Given the description of an element on the screen output the (x, y) to click on. 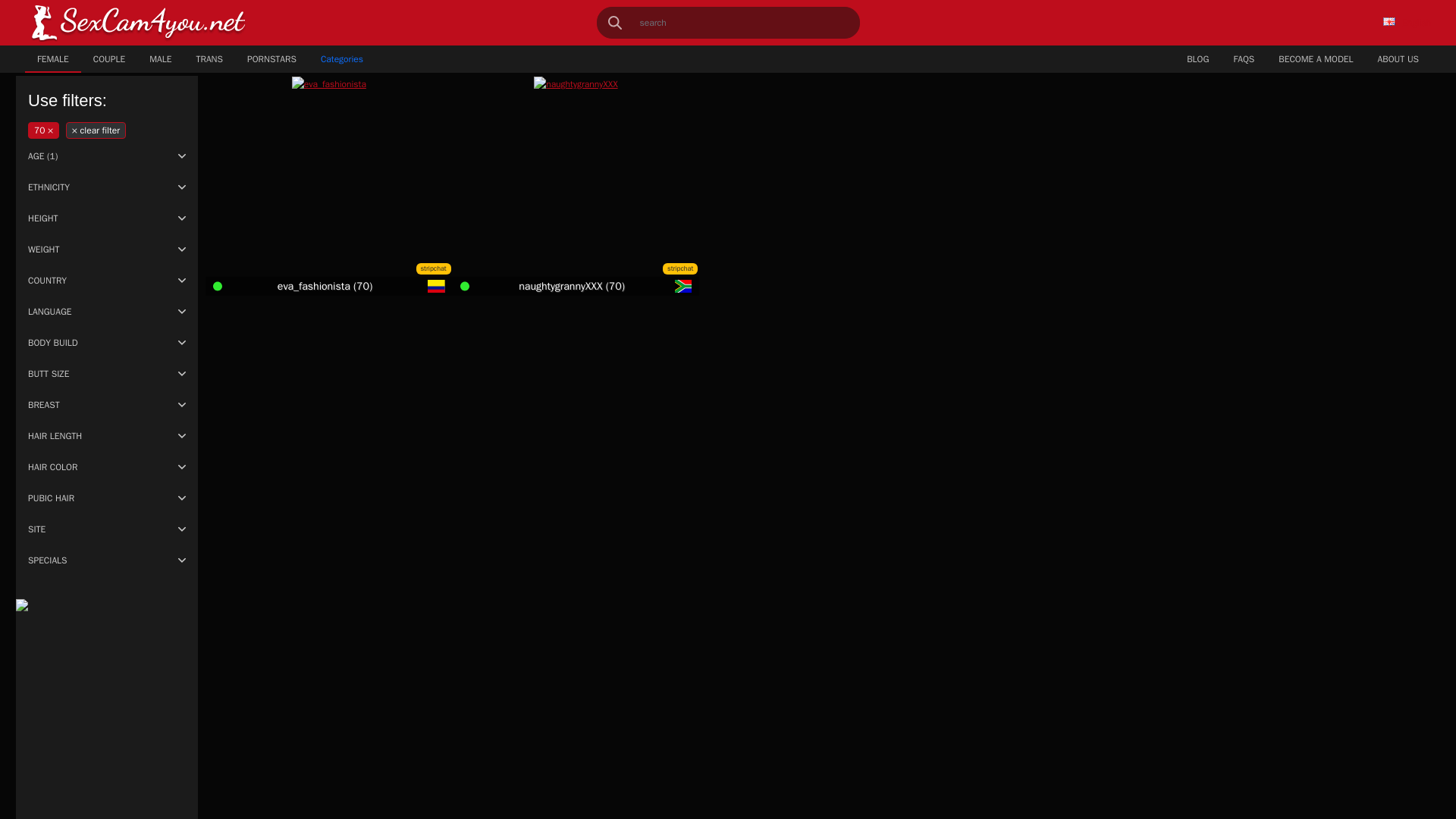
SexCam4you.net (137, 22)
English (1388, 21)
English (1407, 22)
